Given the description of an element on the screen output the (x, y) to click on. 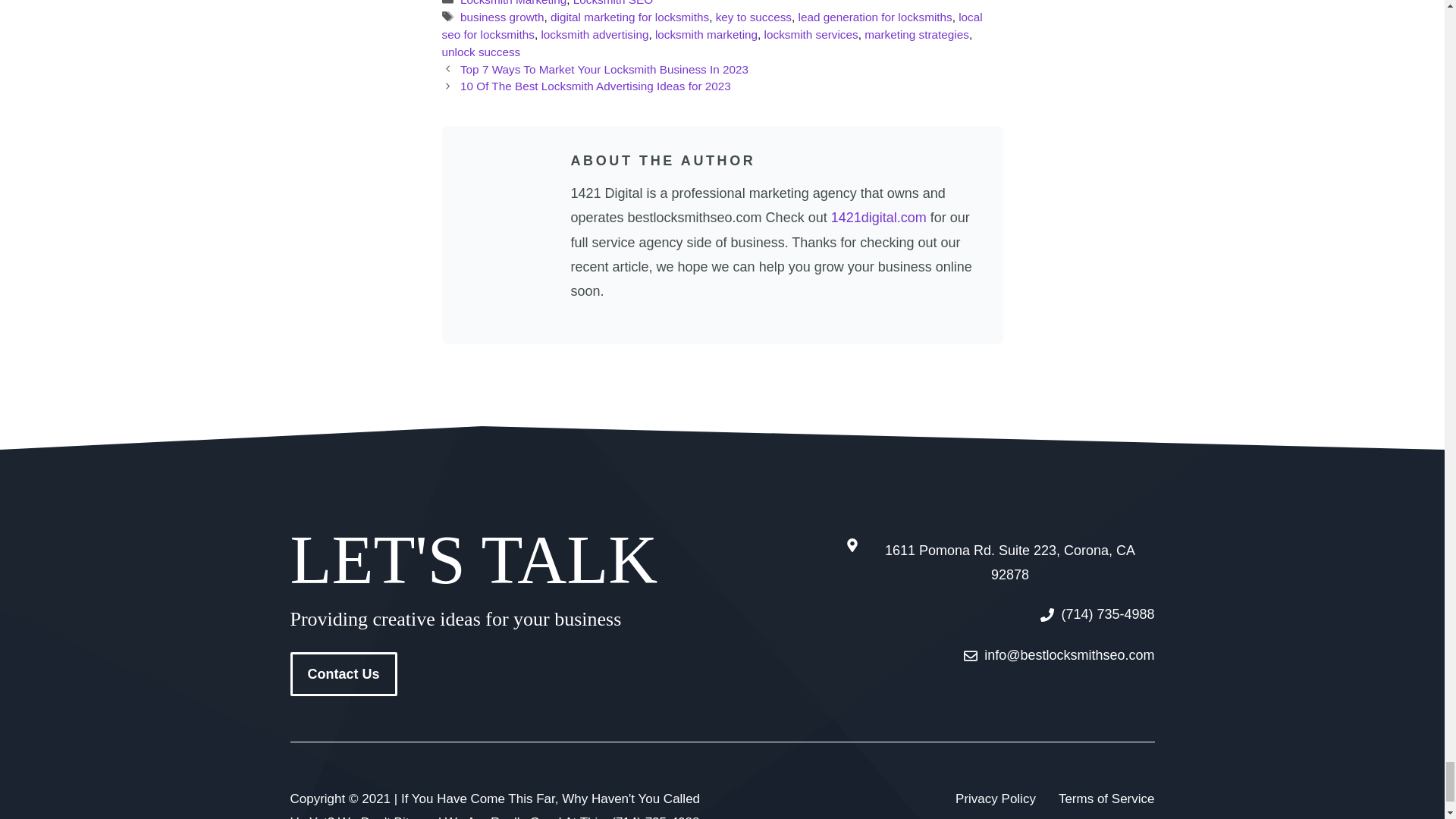
Locksmith Marketing (513, 2)
Locksmith SEO (612, 2)
key to success (754, 16)
local seo for locksmiths (711, 25)
locksmith marketing (706, 33)
locksmith advertising (593, 33)
Contact Us (342, 673)
1421digital.com (878, 217)
business growth (502, 16)
10 Of The Best Locksmith Advertising Ideas for 2023 (595, 85)
digital marketing for locksmiths (629, 16)
locksmith services (811, 33)
Previous (604, 69)
Top 7 Ways To Market Your Locksmith Business In 2023 (604, 69)
Next (595, 85)
